Given the description of an element on the screen output the (x, y) to click on. 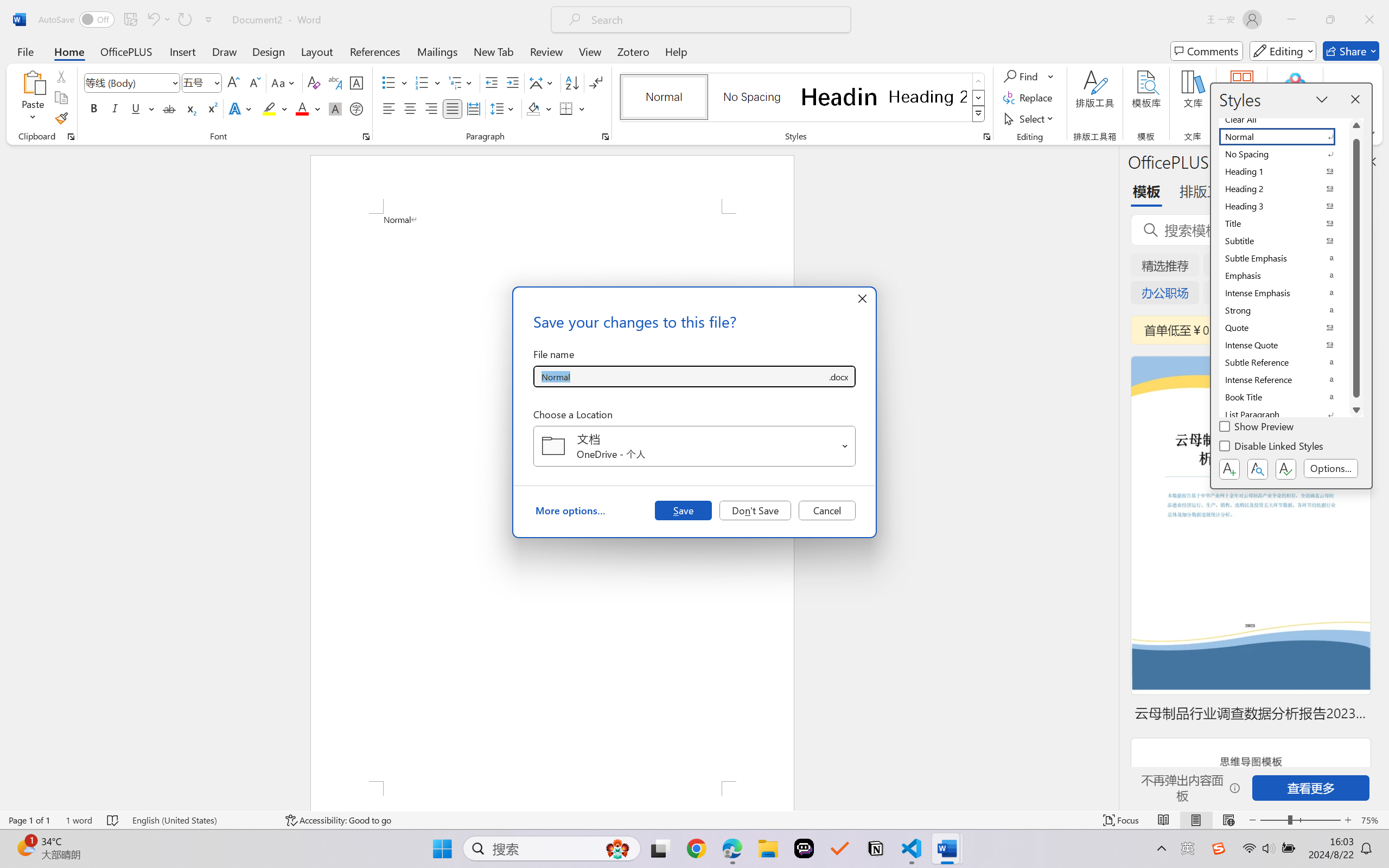
Design (268, 51)
Focus  (1121, 819)
Text Highlight Color Yellow (269, 108)
Save as type (837, 376)
View (589, 51)
Word Count 1 word (78, 819)
Class: NetUIImage (978, 114)
